Given the description of an element on the screen output the (x, y) to click on. 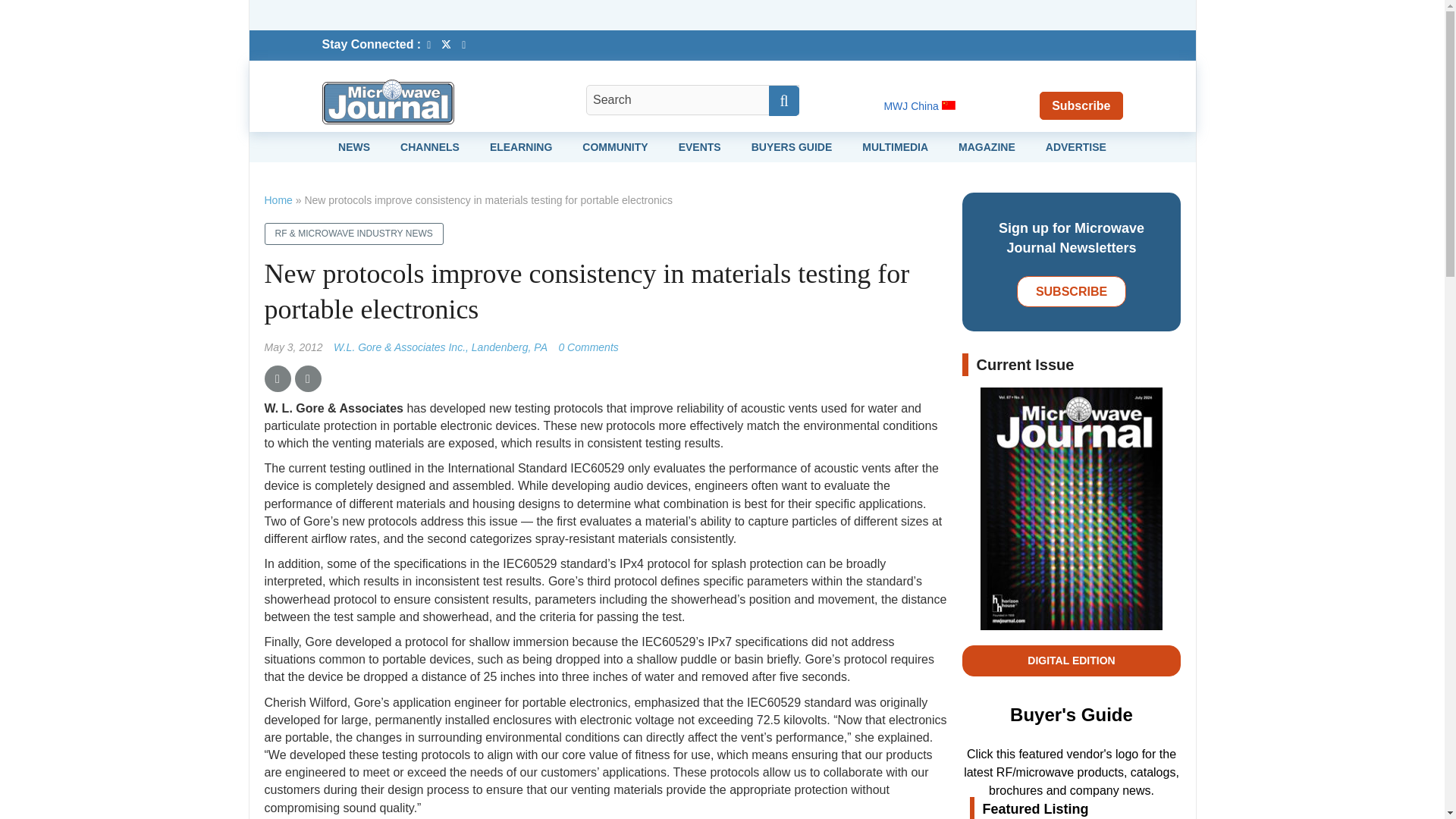
ELEARNING (520, 146)
COMMUNITY (615, 146)
Subscribe (1080, 105)
CHANNELS (430, 146)
MWJ China (919, 105)
NEWS (353, 146)
